Given the description of an element on the screen output the (x, y) to click on. 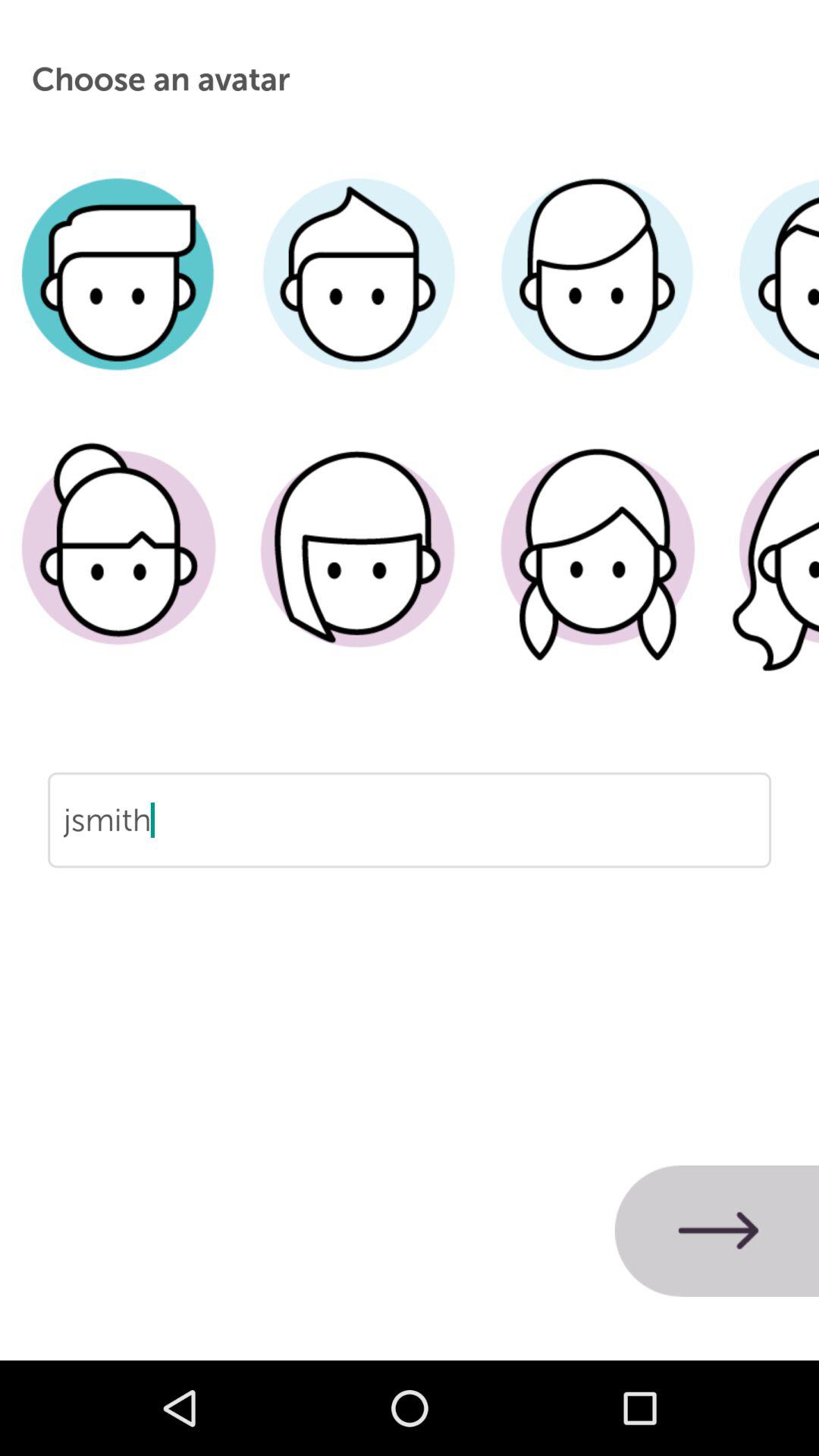
go next (716, 1230)
